Given the description of an element on the screen output the (x, y) to click on. 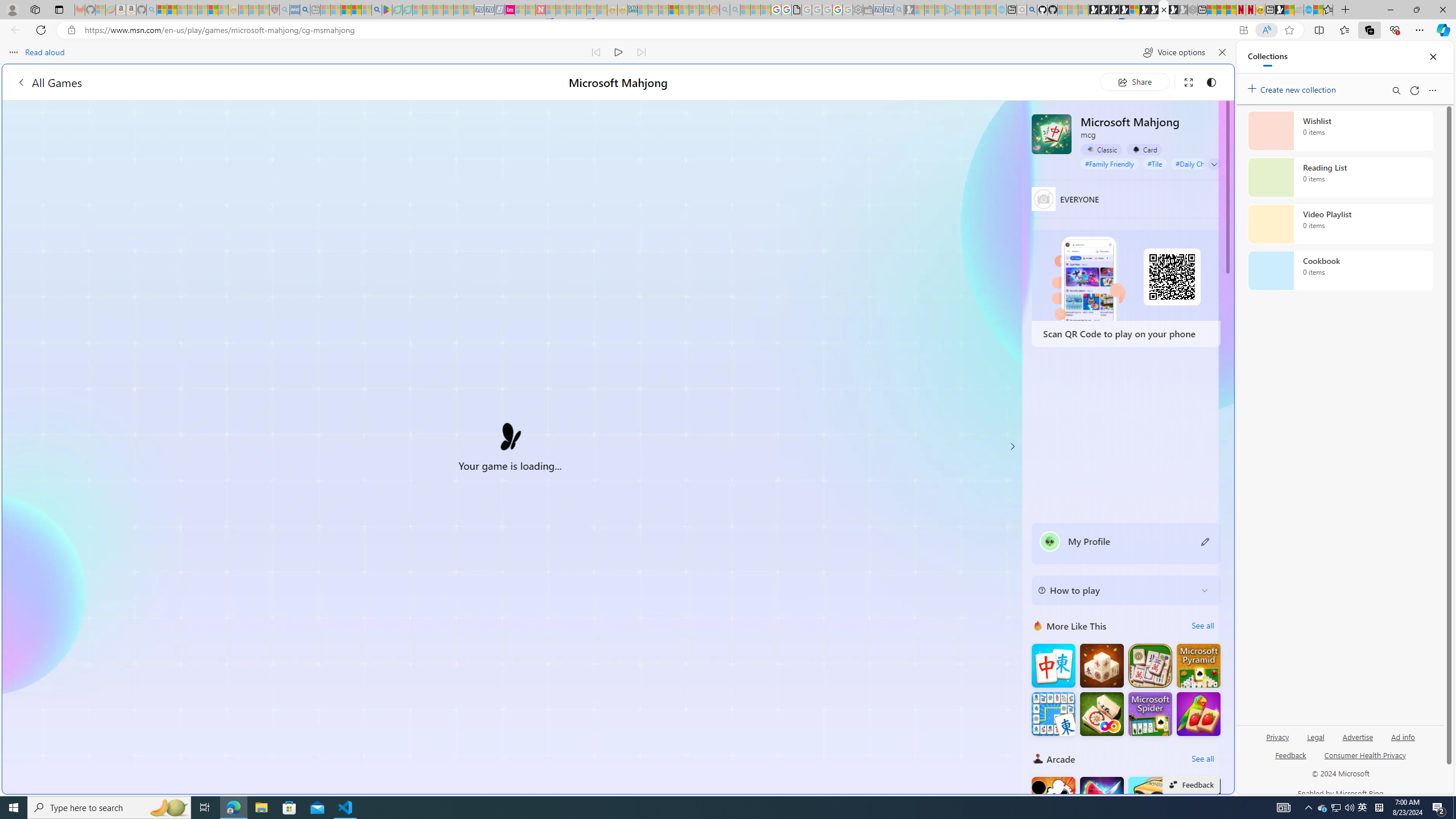
Frequently visited (965, 151)
Close split screen (1208, 57)
